Given the description of an element on the screen output the (x, y) to click on. 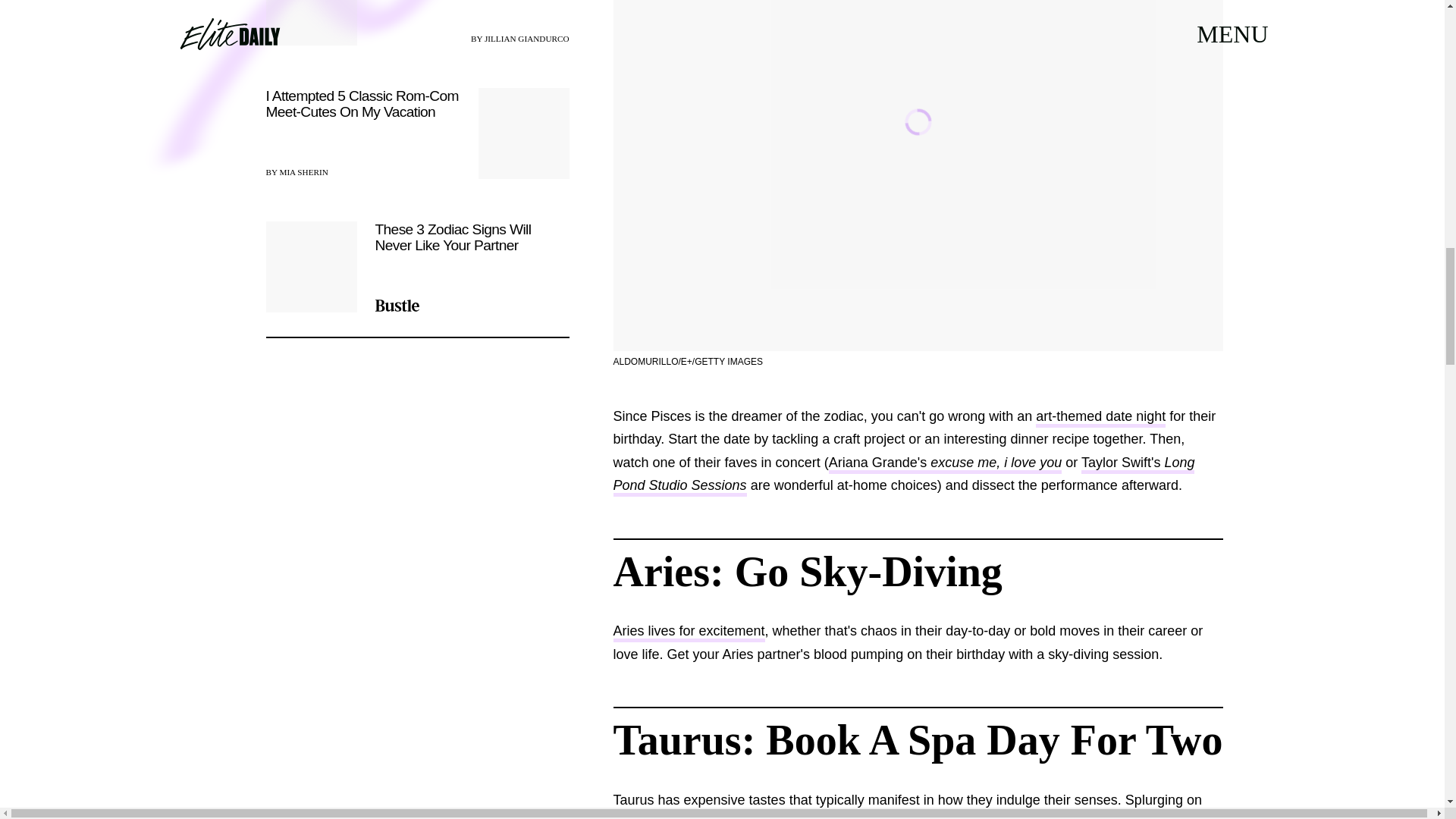
Aries lives for excitement (688, 632)
Ariana Grande's excuse me, i love you (945, 464)
art-themed date night (1100, 417)
These 3 Zodiac Signs Will Never Like Your Partner (416, 266)
Taylor Swift's Long Pond Studio Sessions (902, 476)
